Given the description of an element on the screen output the (x, y) to click on. 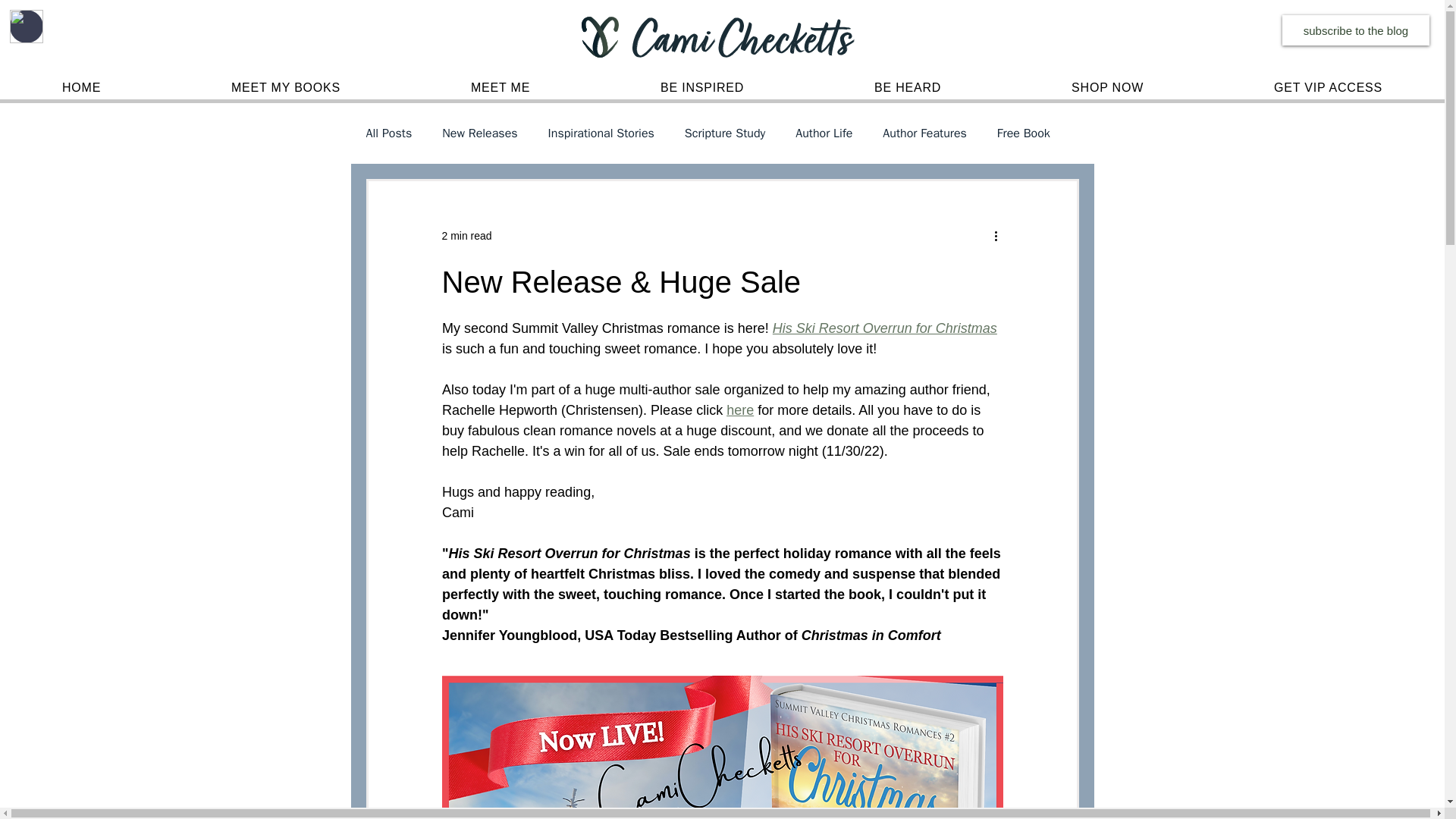
HOME (81, 87)
here (740, 409)
MEET MY BOOKS (285, 87)
subscribe to the blog (1355, 30)
2 min read (466, 234)
Inspirational Stories (600, 133)
GET VIP ACCESS (1327, 87)
New Releases (479, 133)
BE HEARD (907, 87)
His Ski Resort Overrun for Christmas (883, 328)
All Posts (388, 133)
Scripture Study (724, 133)
Author Life (822, 133)
Free Book (1023, 133)
BE INSPIRED (702, 87)
